Given the description of an element on the screen output the (x, y) to click on. 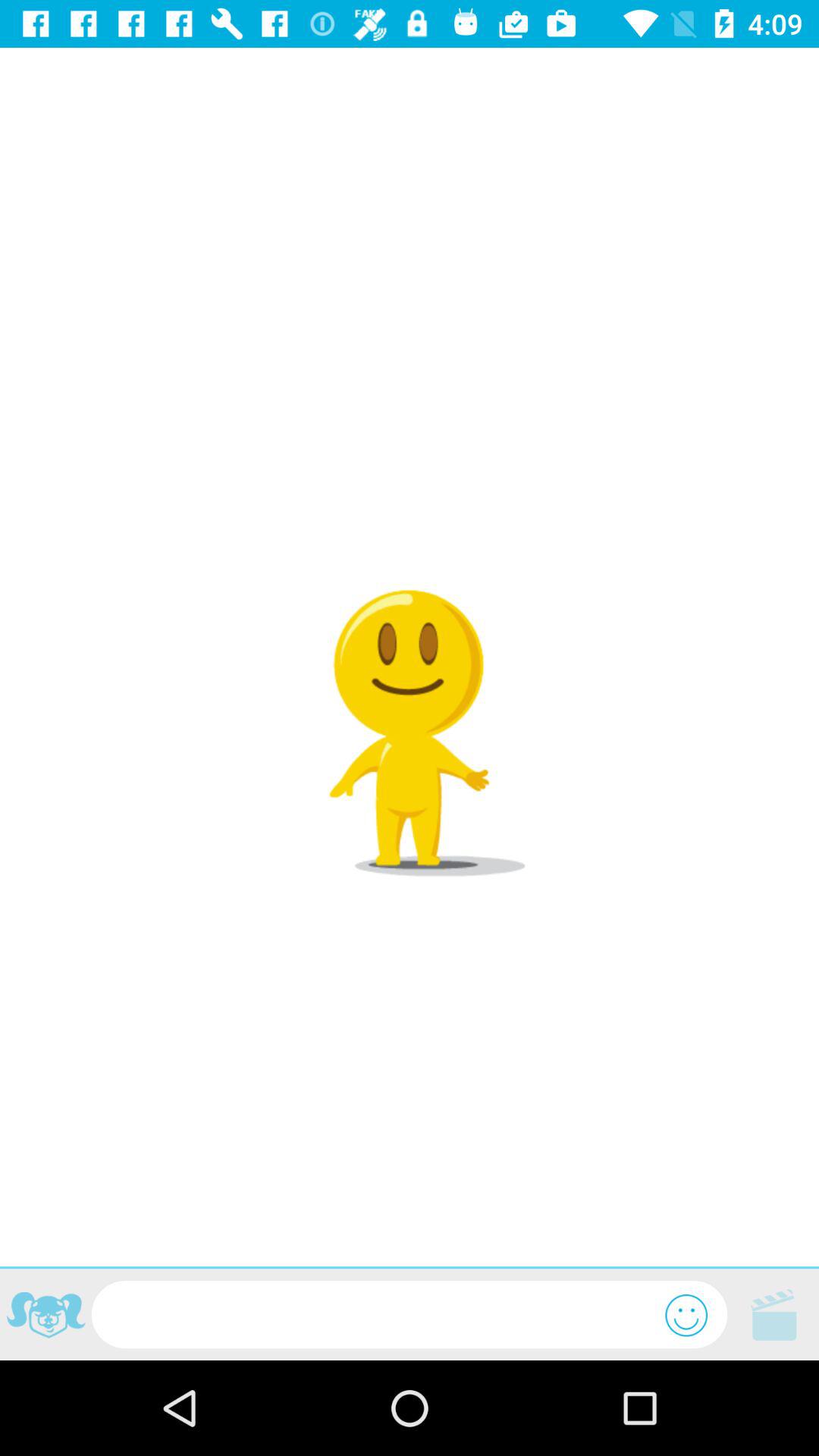
input the message text box input the message (378, 1314)
